Given the description of an element on the screen output the (x, y) to click on. 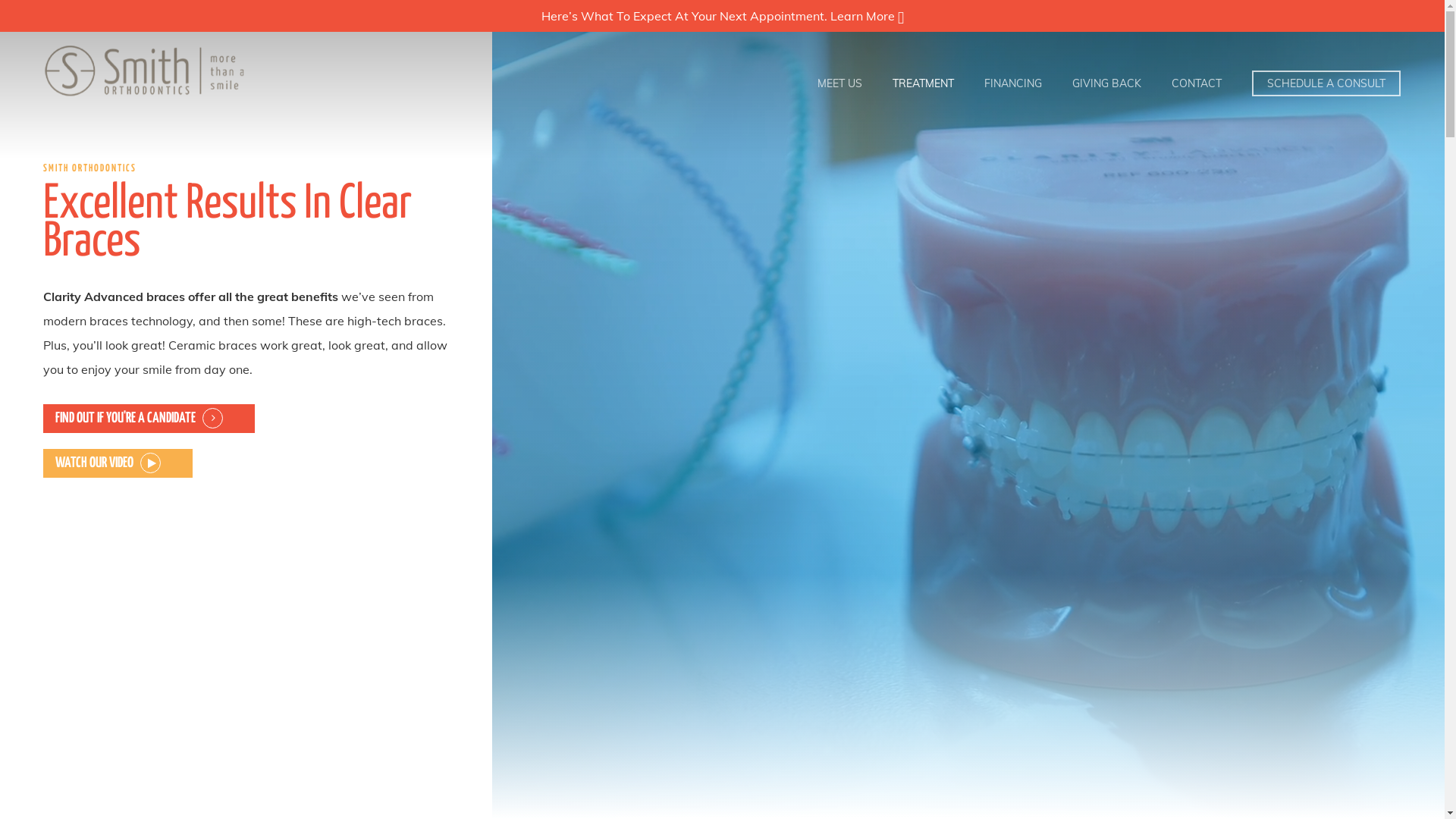
TREATMENT Element type: text (923, 82)
CONTACT Element type: text (1196, 82)
FIND OUT IF YOU'RE A CANDIDATE Element type: text (138, 418)
SCHEDULE A CONSULT Element type: text (1326, 82)
GIVING BACK Element type: text (1106, 82)
WATCH OUR VIDEO Element type: text (107, 463)
FINANCING Element type: text (1013, 82)
MEET US Element type: text (839, 82)
